Given the description of an element on the screen output the (x, y) to click on. 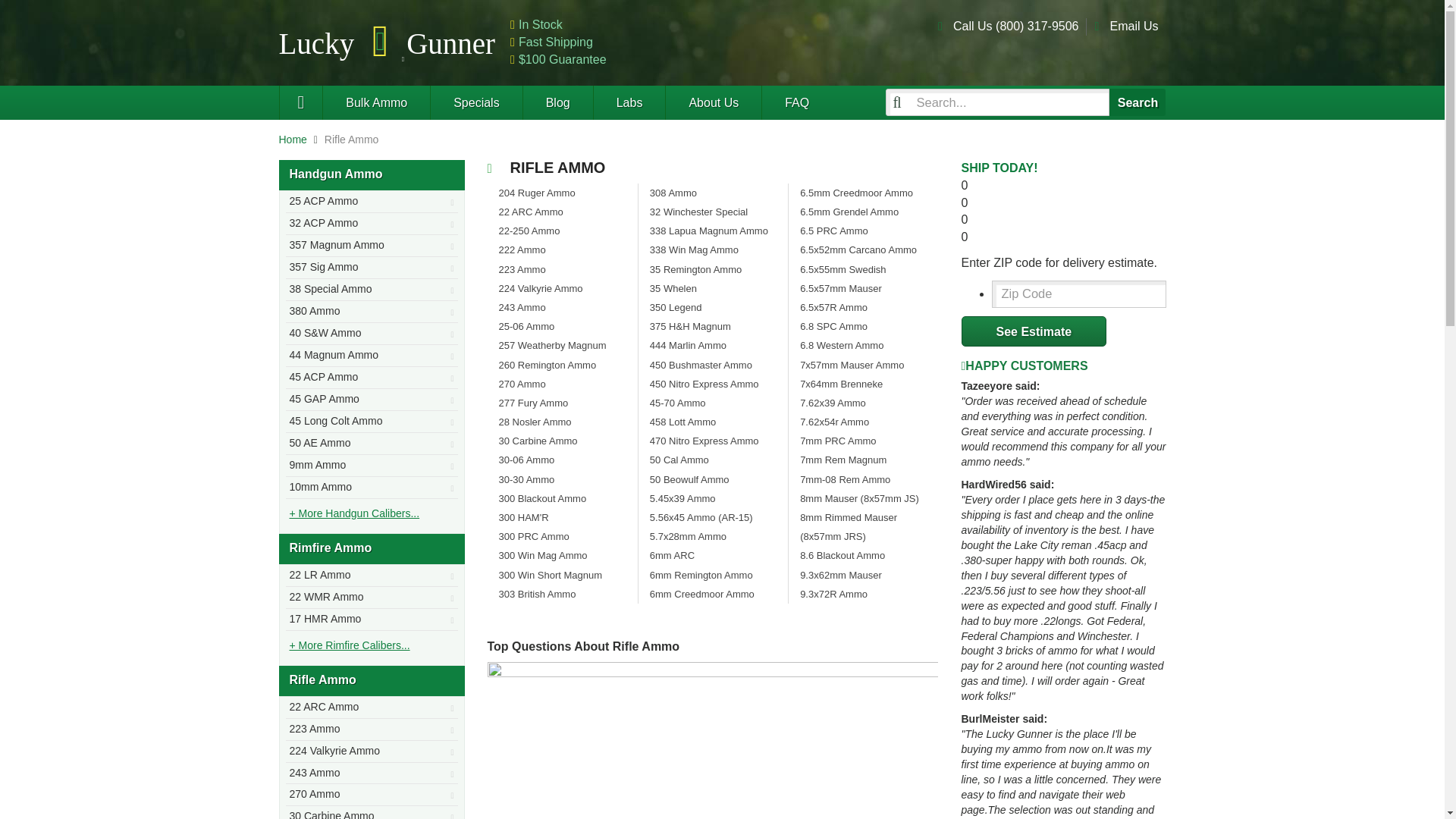
Home (293, 139)
25 ACP Ammo (371, 201)
FAQ (796, 102)
Call Us (1015, 25)
LuckyGunner's Ammunition Laboratory (628, 102)
Bulk Ammunition (375, 102)
About Lucky Gunner (713, 102)
Cheap Ammo For Sale at Lucky Gunner (387, 42)
Special Ammunition Deals (475, 102)
Email Us (1133, 25)
Lucky Gunner (301, 102)
Handgun Ammo (371, 174)
Email Us (1133, 25)
The Lucky Gunner Lounge (557, 102)
Search (1137, 102)
